Given the description of an element on the screen output the (x, y) to click on. 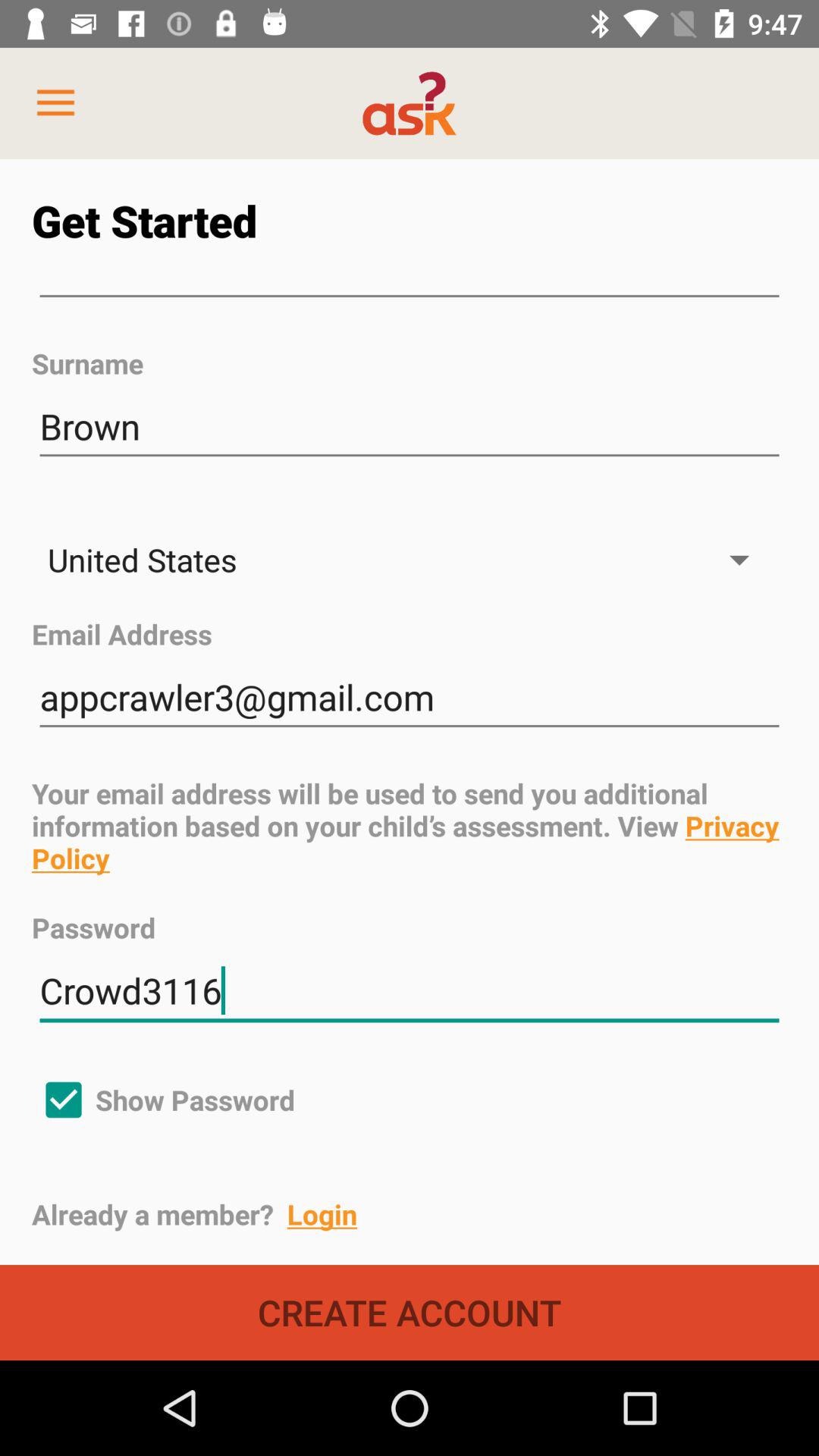
jump until create account icon (409, 1312)
